Given the description of an element on the screen output the (x, y) to click on. 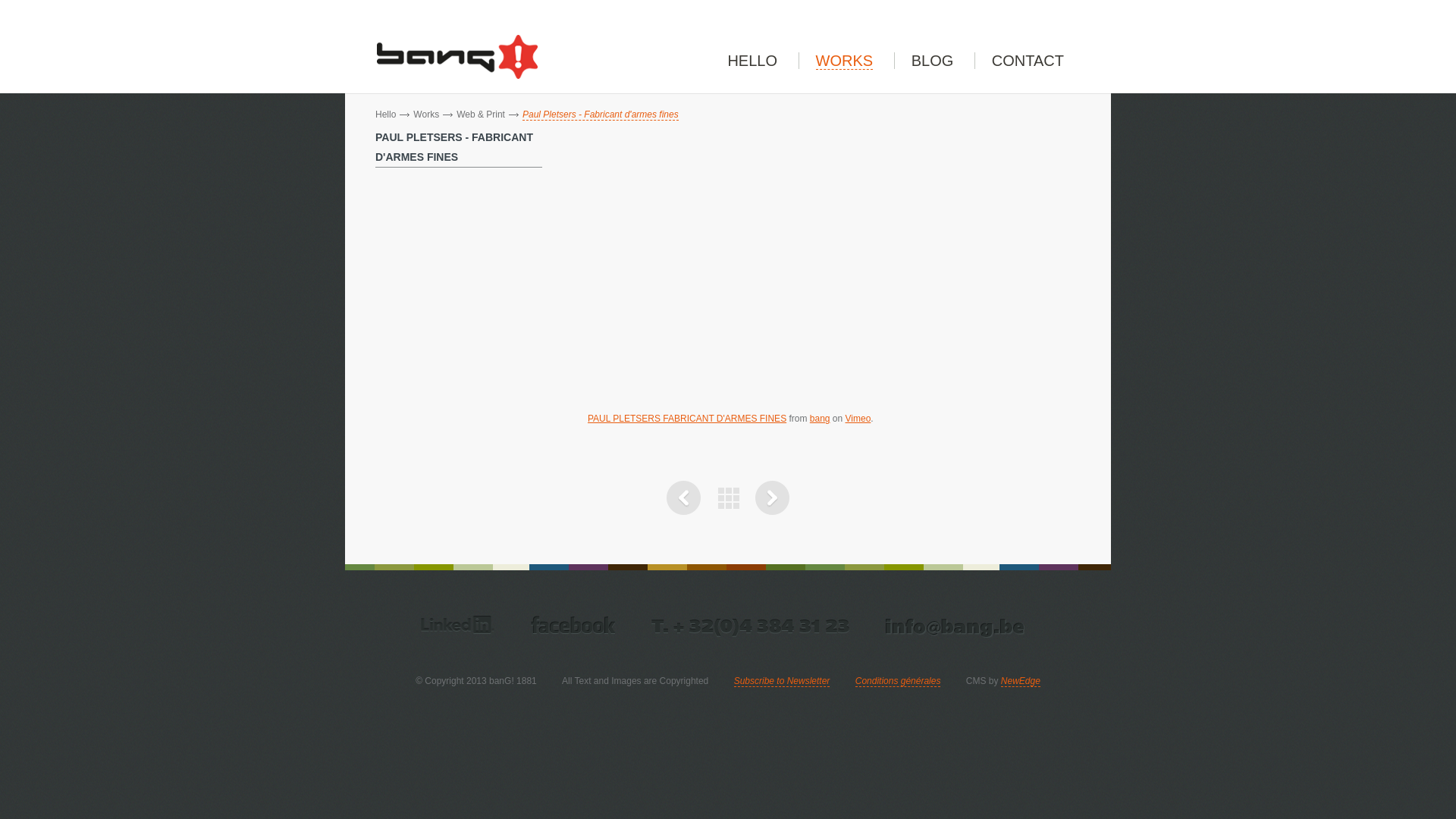
HELLO Element type: text (752, 60)
Vimeo Element type: text (858, 418)
WORKS Element type: text (844, 60)
BLOG Element type: text (932, 60)
NewEdge Element type: text (1020, 681)
Works Element type: text (426, 114)
bang Element type: text (819, 418)
Subscribe to Newsletter Element type: text (782, 681)
Paul Pletsers Element type: hover (772, 511)
Hello Element type: text (385, 114)
Paul Pletsers Element type: hover (683, 511)
CONTACT Element type: text (1027, 60)
Web & Print Element type: text (480, 114)
PAUL PLETSERS FABRICANT D'ARMES FINES Element type: text (686, 418)
